Given the description of an element on the screen output the (x, y) to click on. 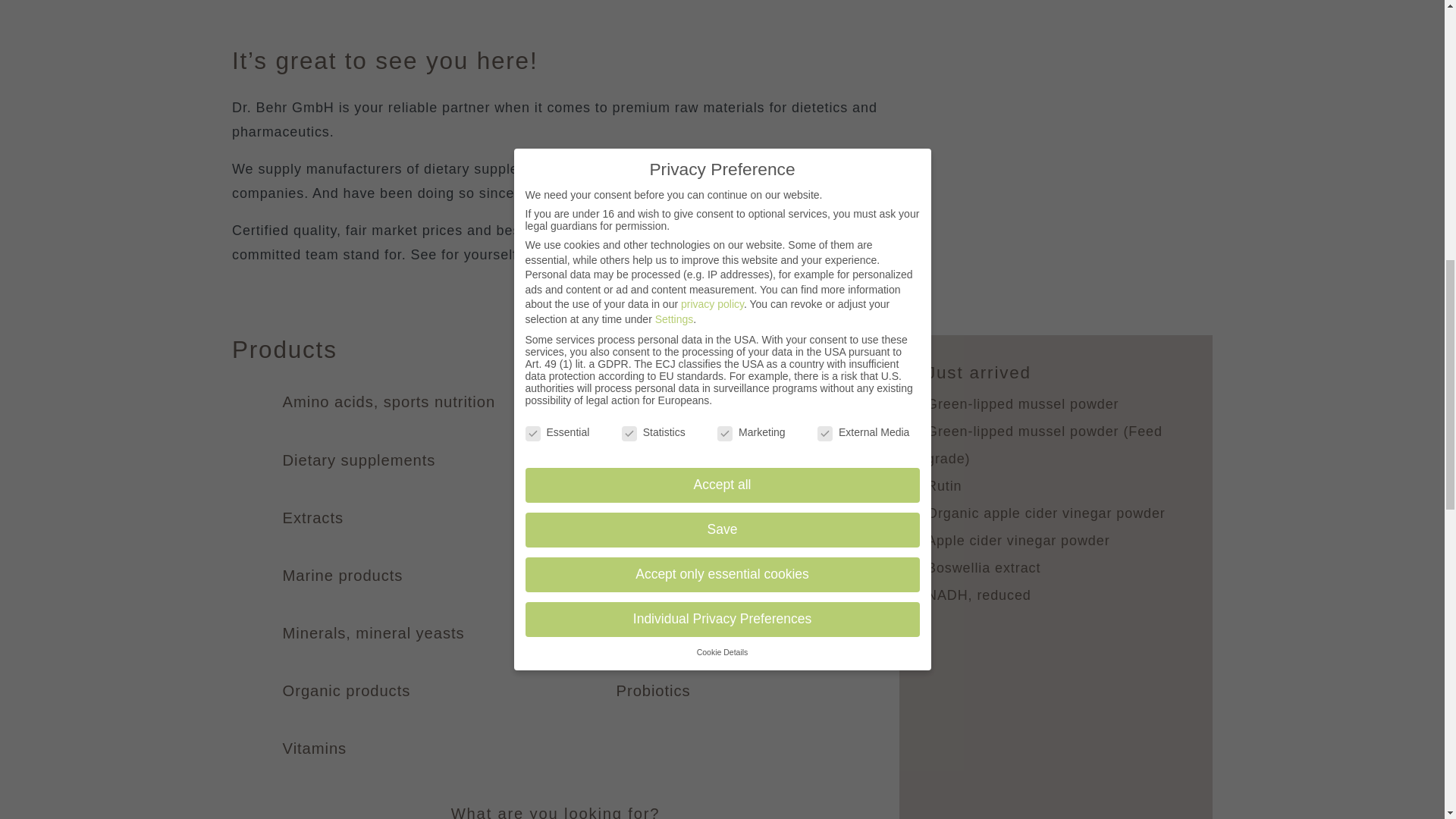
Carotenoids (660, 401)
Enzymes (649, 460)
Dietary supplements (358, 460)
Amino acids, sports nutrition (388, 401)
